Given the description of an element on the screen output the (x, y) to click on. 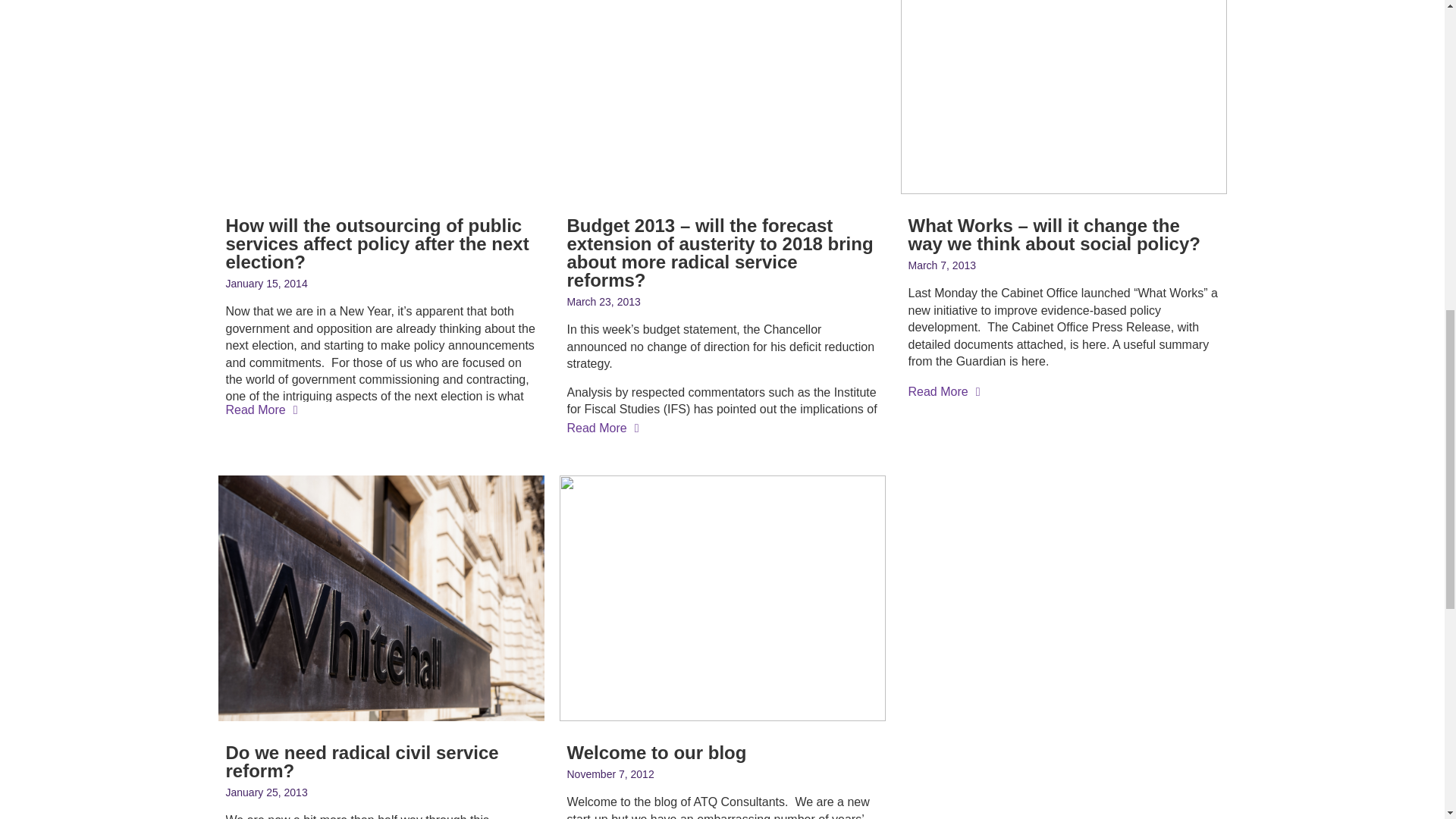
What Works: evidence centres for social policy (1158, 389)
Read More (261, 410)
